Given the description of an element on the screen output the (x, y) to click on. 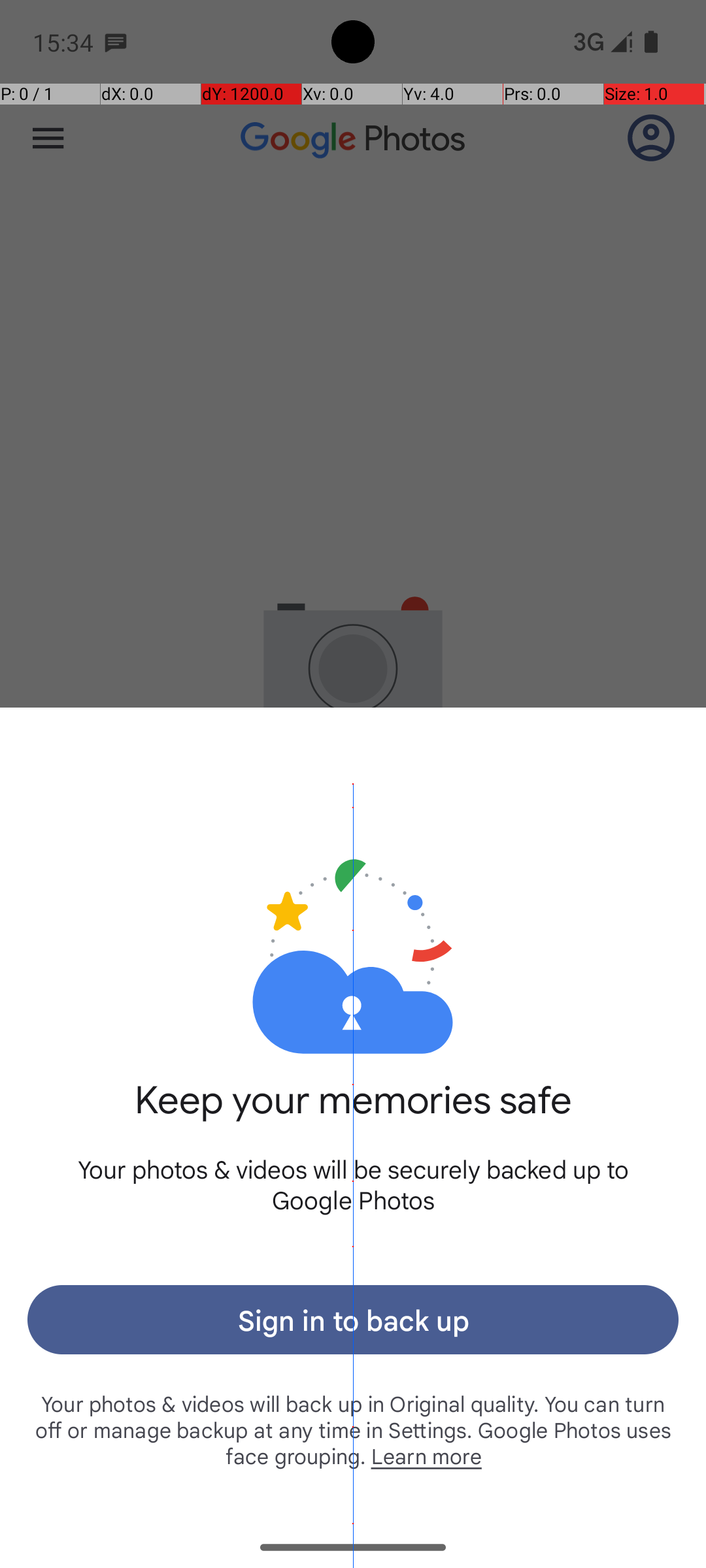
Photos and videos stored in a cloud Element type: android.widget.ImageView (352, 913)
Keep your memories safe Element type: android.widget.TextView (352, 1113)
Your photos & videos will be securely backed up to Google Photos Element type: android.widget.TextView (352, 1183)
Sign in to back up Element type: android.widget.Button (352, 1319)
Your photos & videos will back up in Original quality. You can turn off or manage backup at any time in Settings. Google Photos uses face grouping. Learn more Element type: android.widget.TextView (352, 1429)
